Given the description of an element on the screen output the (x, y) to click on. 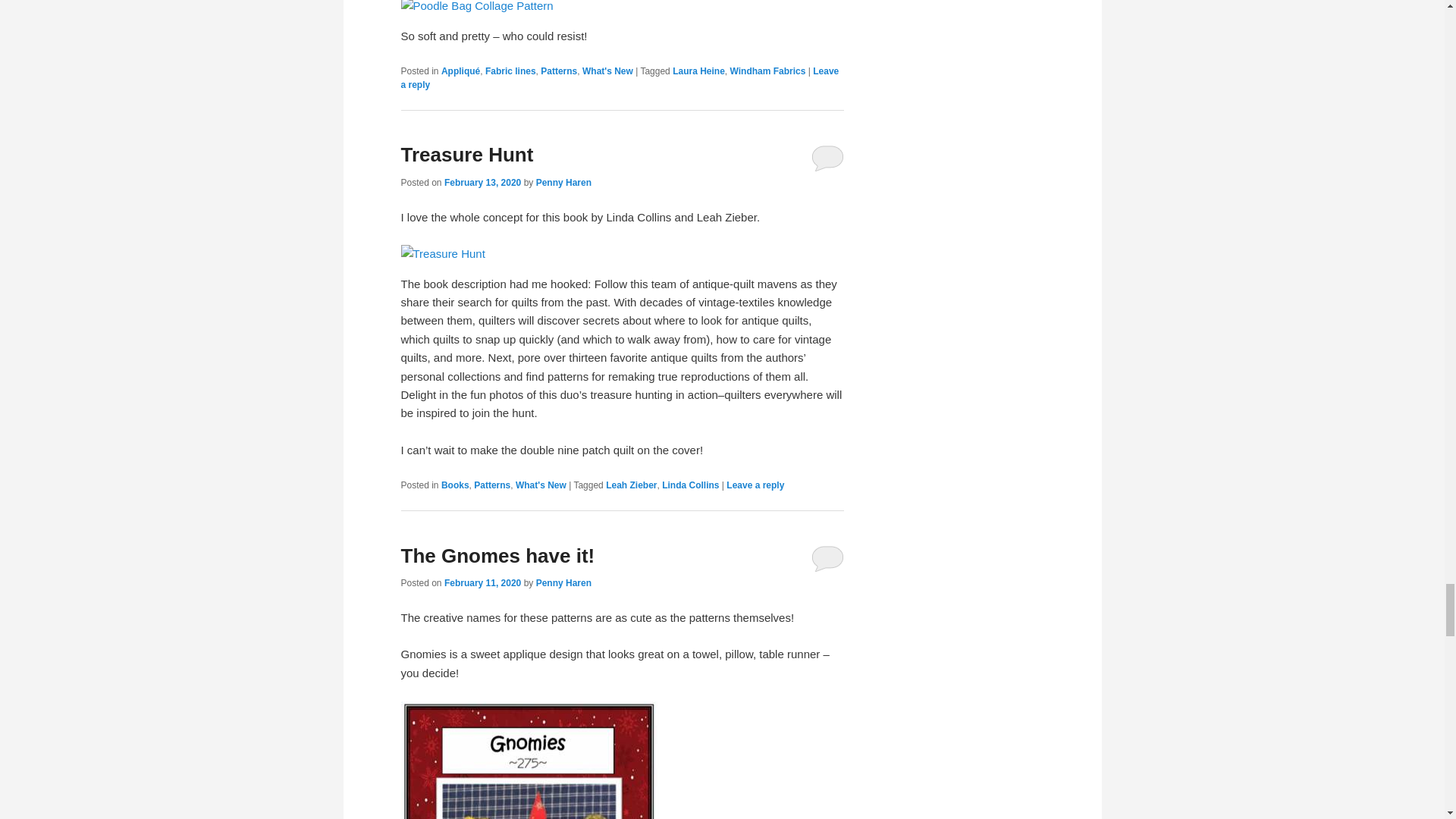
View all posts by Penny Haren (563, 583)
8:00 am (482, 182)
View all posts by Penny Haren (563, 182)
8:00 am (482, 583)
